Given the description of an element on the screen output the (x, y) to click on. 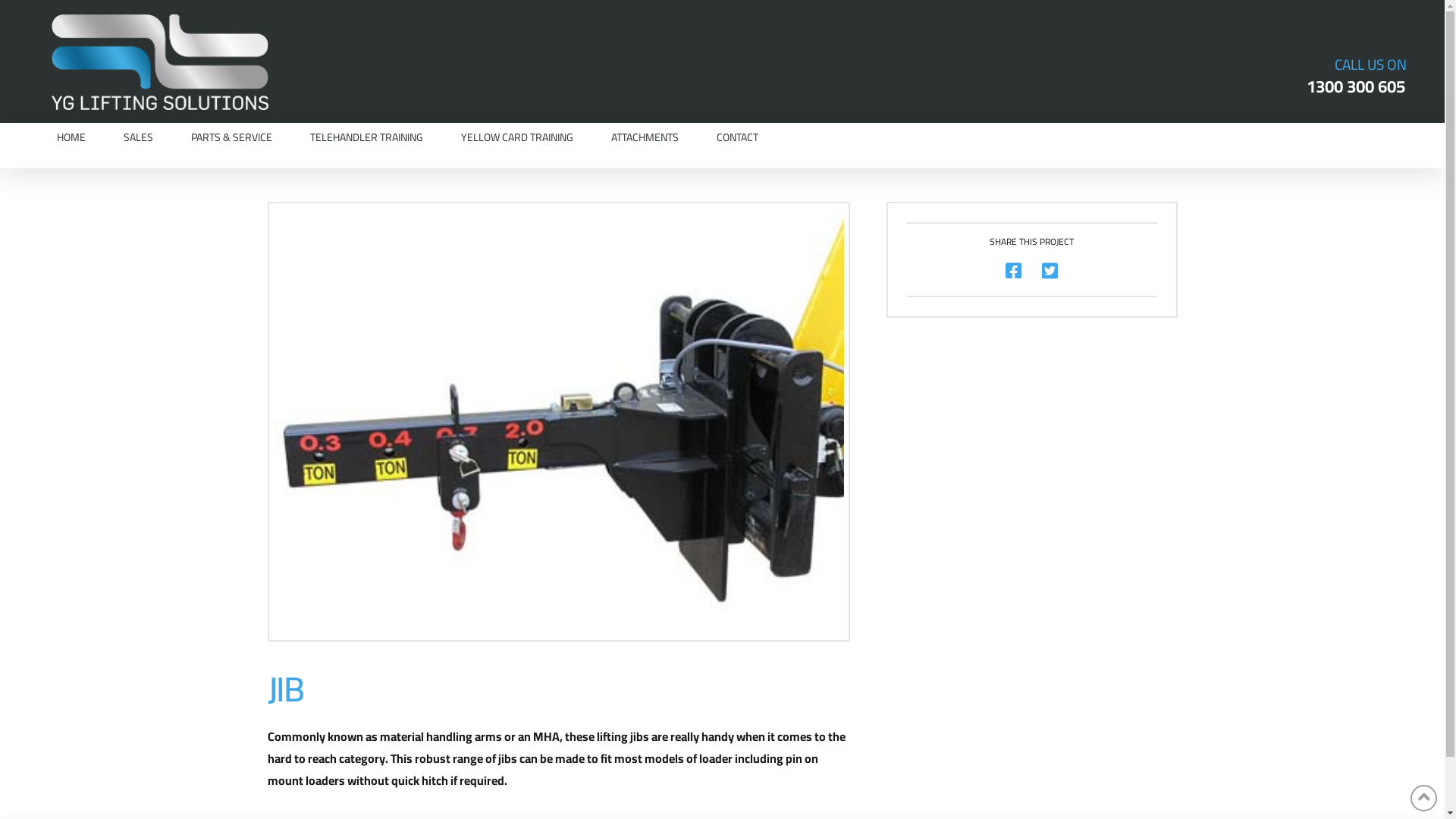
HOME Element type: text (70, 136)
SALES Element type: text (138, 136)
Back to Top Element type: hover (1423, 797)
PARTS & SERVICE Element type: text (231, 136)
ATTACHMENTS Element type: text (644, 136)
TELEHANDLER TRAINING Element type: text (366, 136)
CONTACT Element type: text (737, 136)
YELLOW CARD TRAINING Element type: text (517, 136)
